Given the description of an element on the screen output the (x, y) to click on. 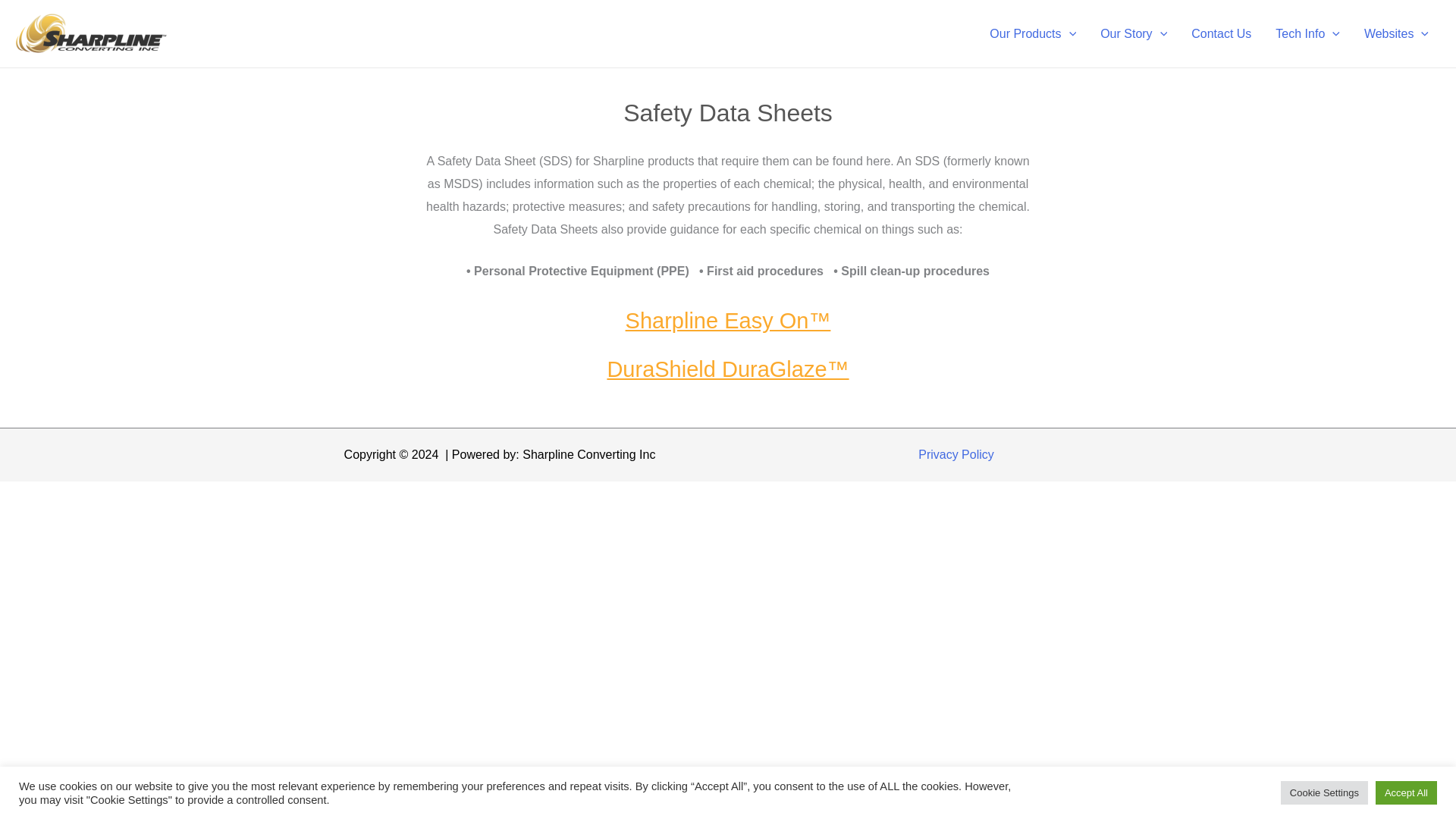
Contact Us (1221, 33)
Our Products (1031, 33)
Tech Info (1307, 33)
Our Story (1133, 33)
Websites (1396, 33)
